Given the description of an element on the screen output the (x, y) to click on. 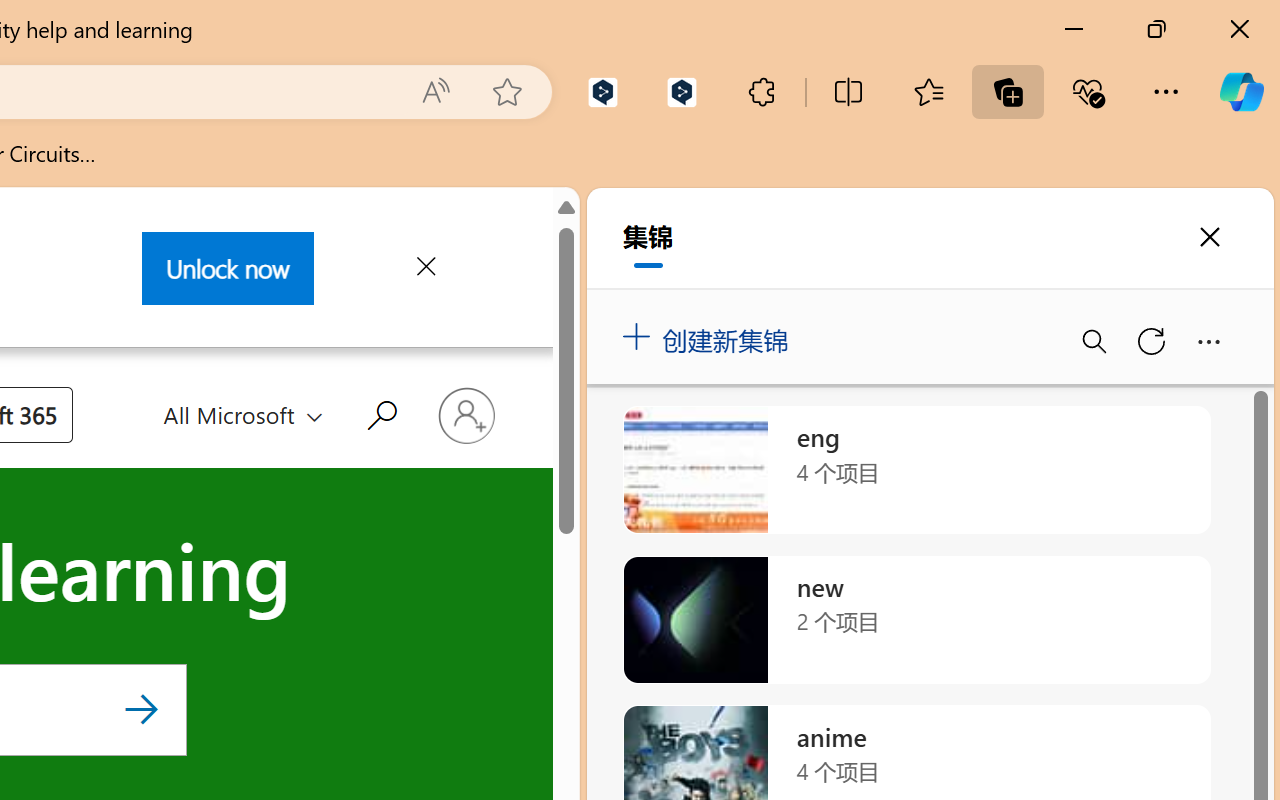
Close Ad (424, 269)
Copilot (Ctrl+Shift+.) (1241, 91)
